Given the description of an element on the screen output the (x, y) to click on. 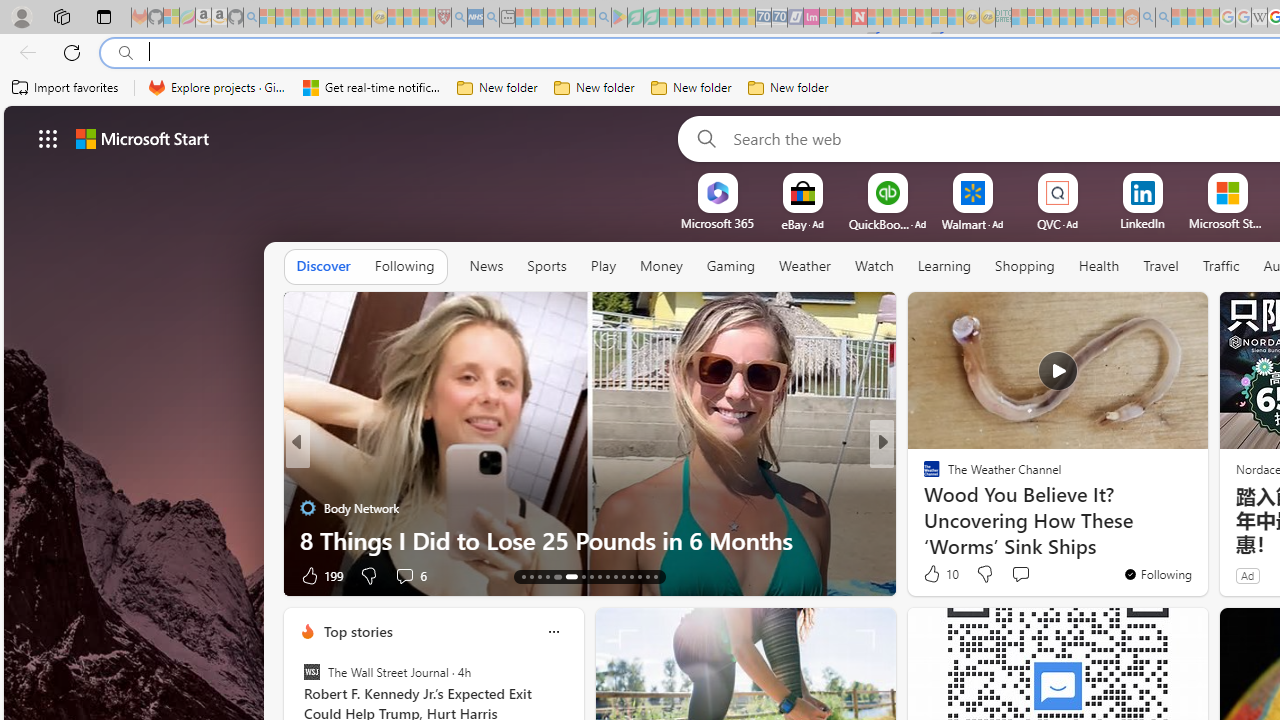
AutomationID: tab-13 (522, 576)
AutomationID: tab-28 (655, 576)
76 Like (934, 574)
AutomationID: tab-27 (646, 576)
Play (603, 267)
